Given the description of an element on the screen output the (x, y) to click on. 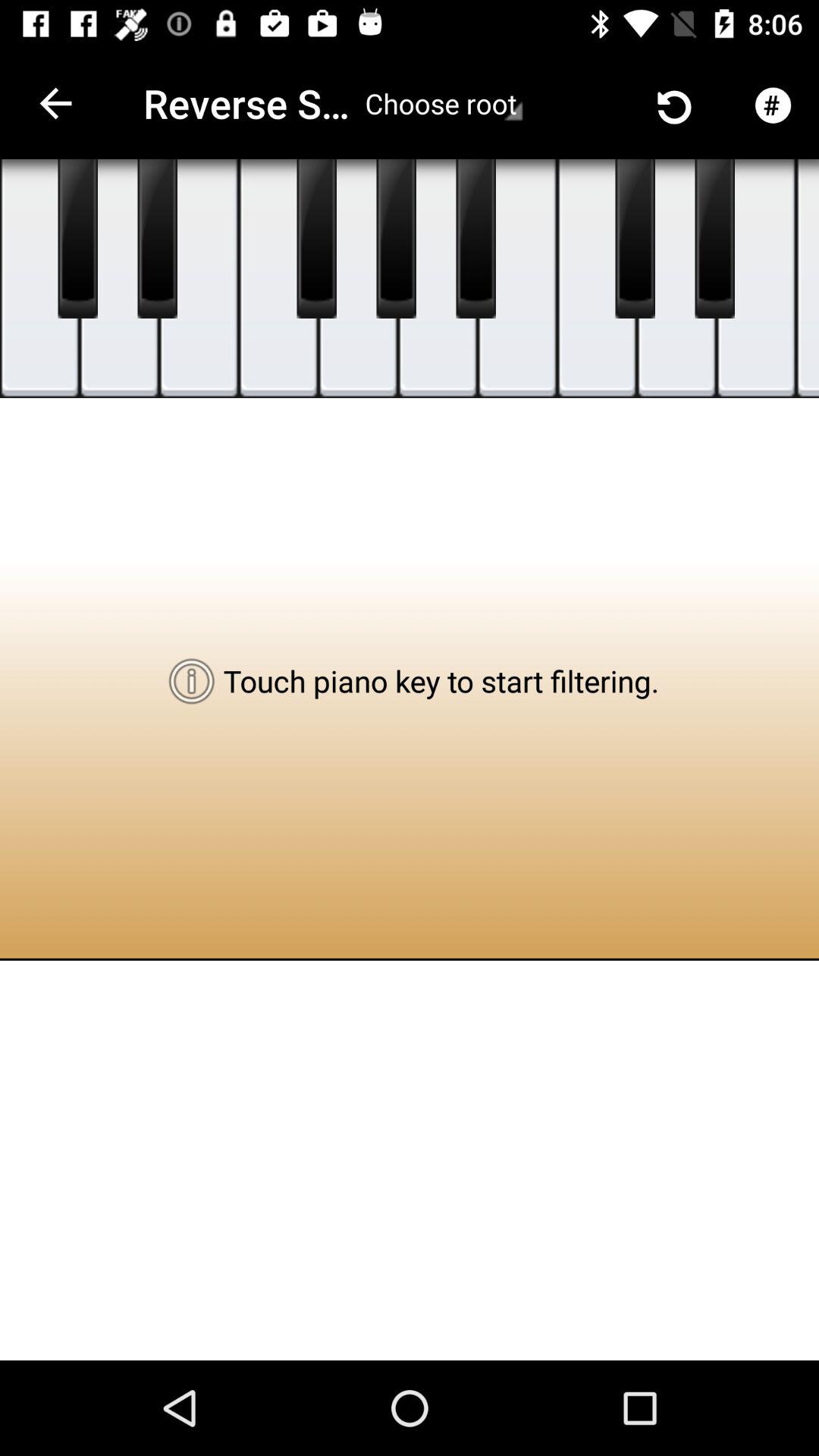
select piano key (714, 238)
